Given the description of an element on the screen output the (x, y) to click on. 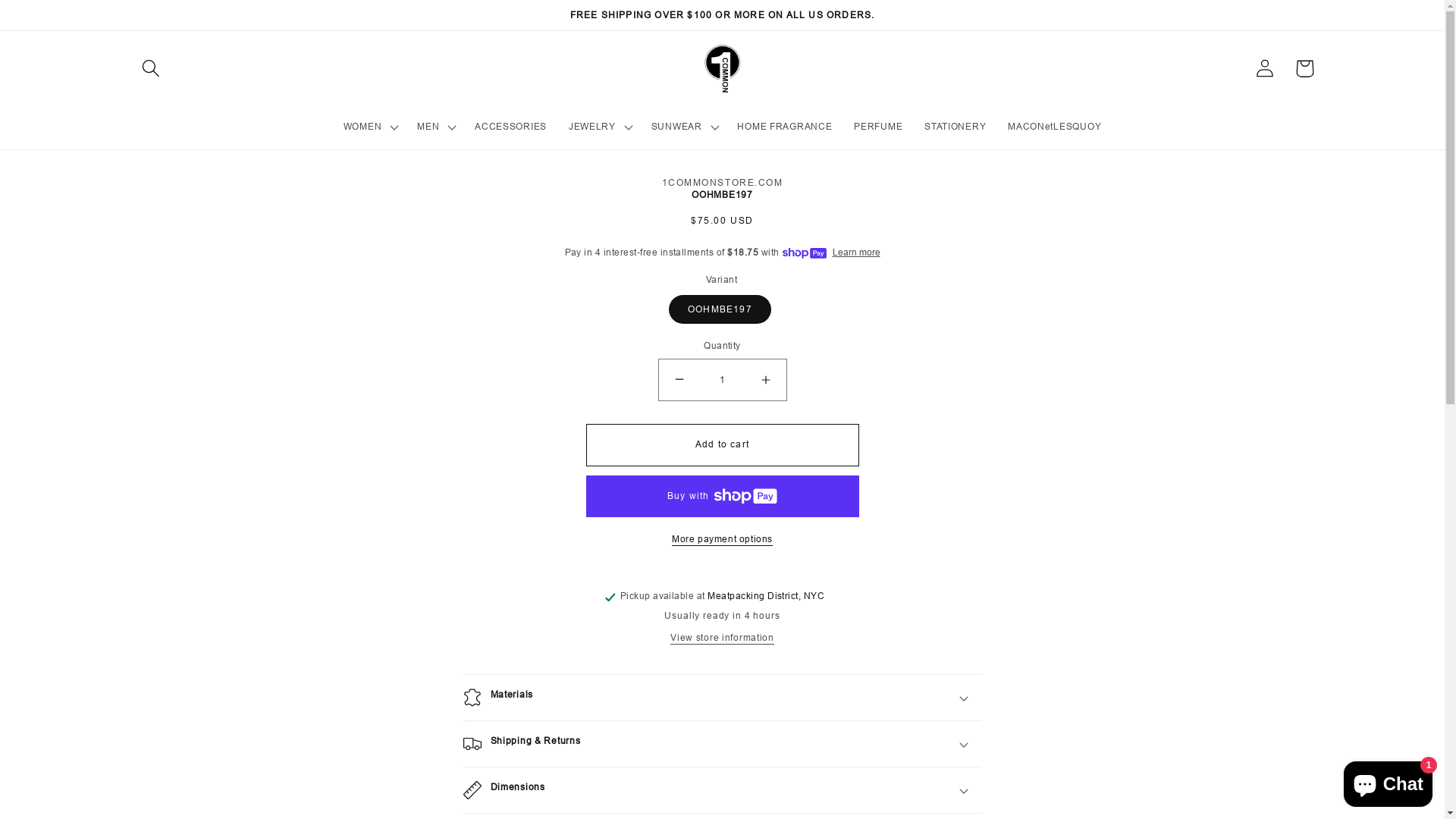
Add to cart Element type: text (721, 444)
View store information Element type: text (722, 637)
HOME FRAGRANCE Element type: text (784, 126)
Increase quantity for OOHMBE197 Element type: text (764, 379)
More payment options Element type: text (721, 538)
MACONetLESQUOY Element type: text (1054, 126)
STATIONERY Element type: text (955, 126)
Shopify online store chat Element type: hover (1388, 780)
PERFUME Element type: text (878, 126)
Skip to product information Element type: text (517, 197)
Log in Element type: text (1264, 68)
ACCESSORIES Element type: text (511, 126)
Decrease quantity for OOHMBE197 Element type: text (678, 379)
Cart Element type: text (1304, 68)
